Given the description of an element on the screen output the (x, y) to click on. 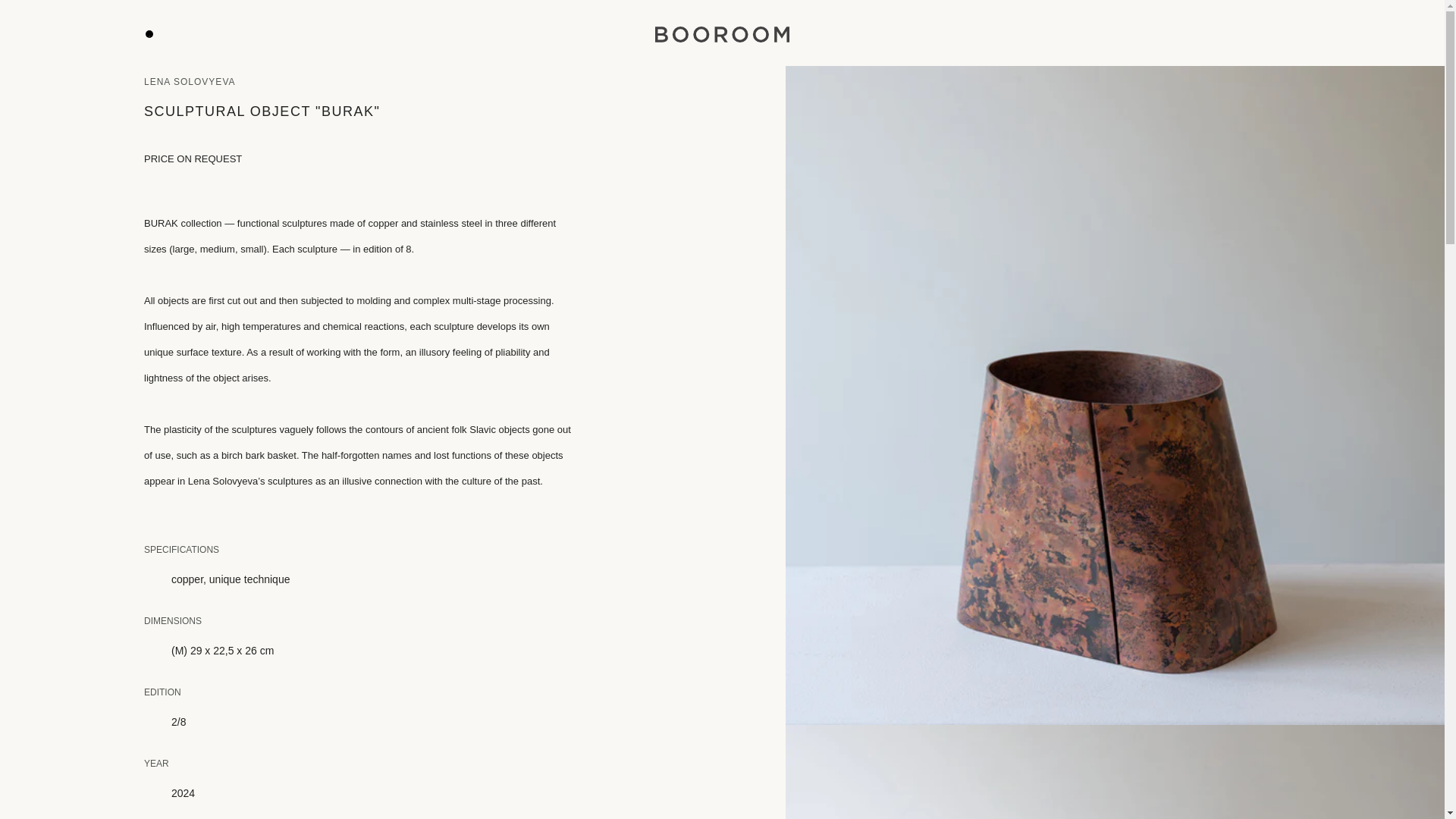
LENA SOLOVYEVA (189, 81)
